Given the description of an element on the screen output the (x, y) to click on. 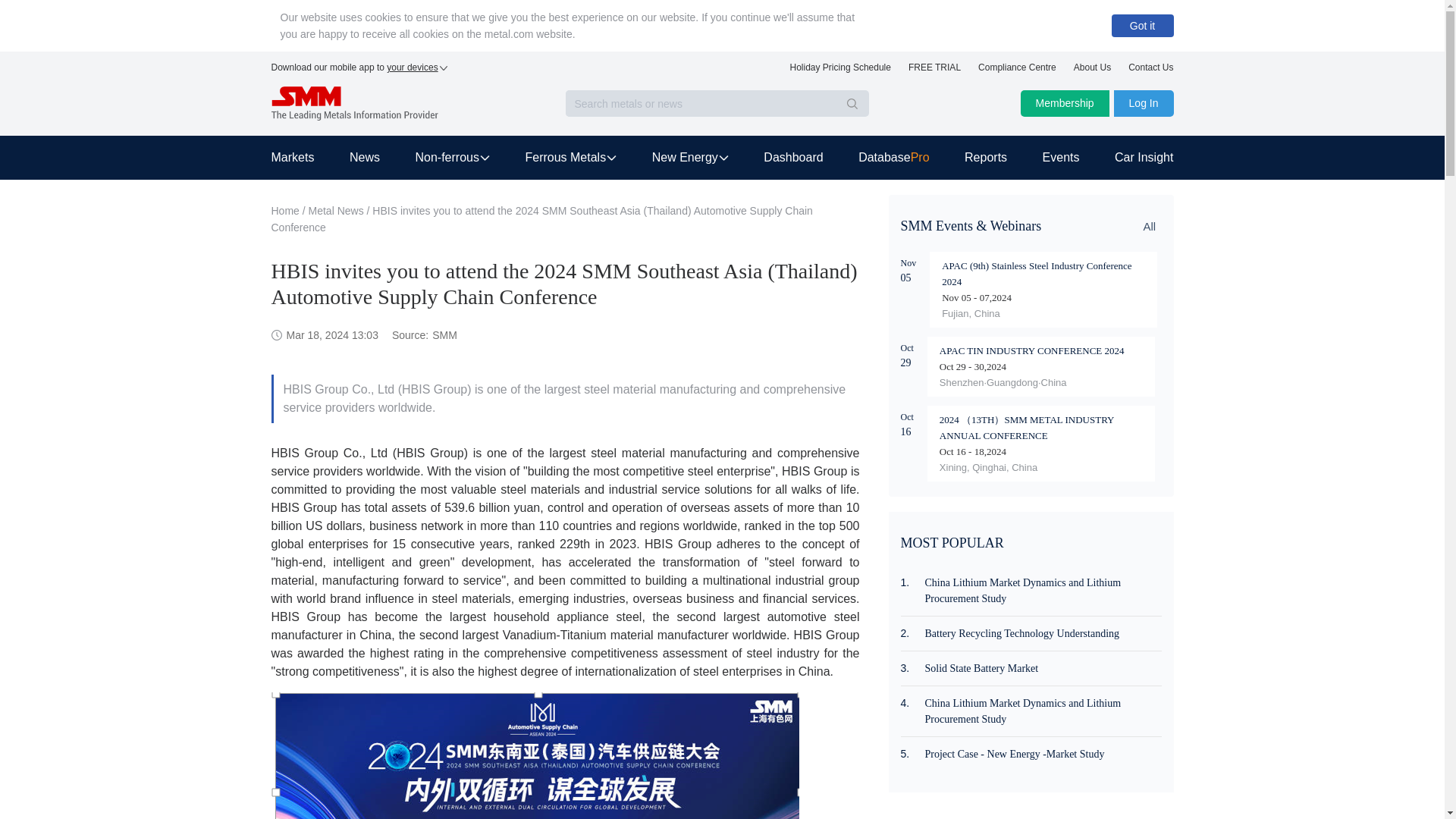
Membership (1064, 103)
News (364, 157)
Compliance Centre (1017, 71)
Contact Us (1150, 71)
Holiday Pricing Schedule (840, 71)
DatabasePro (893, 157)
Markets (300, 157)
Log In (1143, 103)
Dashboard (792, 157)
Car Insight (1135, 157)
Home (284, 210)
Events (1061, 157)
FREE TRIAL (934, 71)
Reports (986, 157)
Metal News (336, 210)
